Given the description of an element on the screen output the (x, y) to click on. 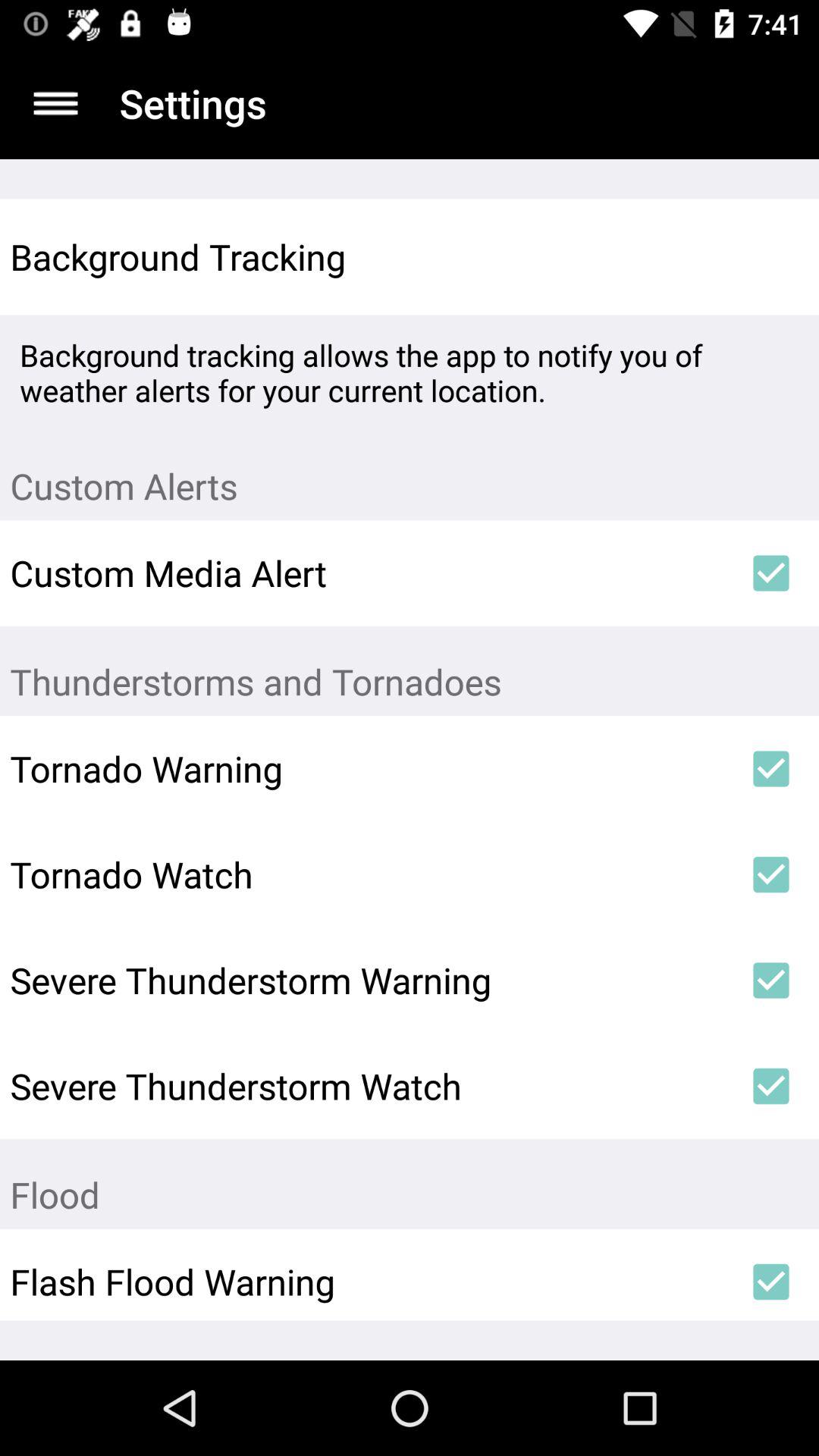
select icon next to custom media alert (771, 573)
